Given the description of an element on the screen output the (x, y) to click on. 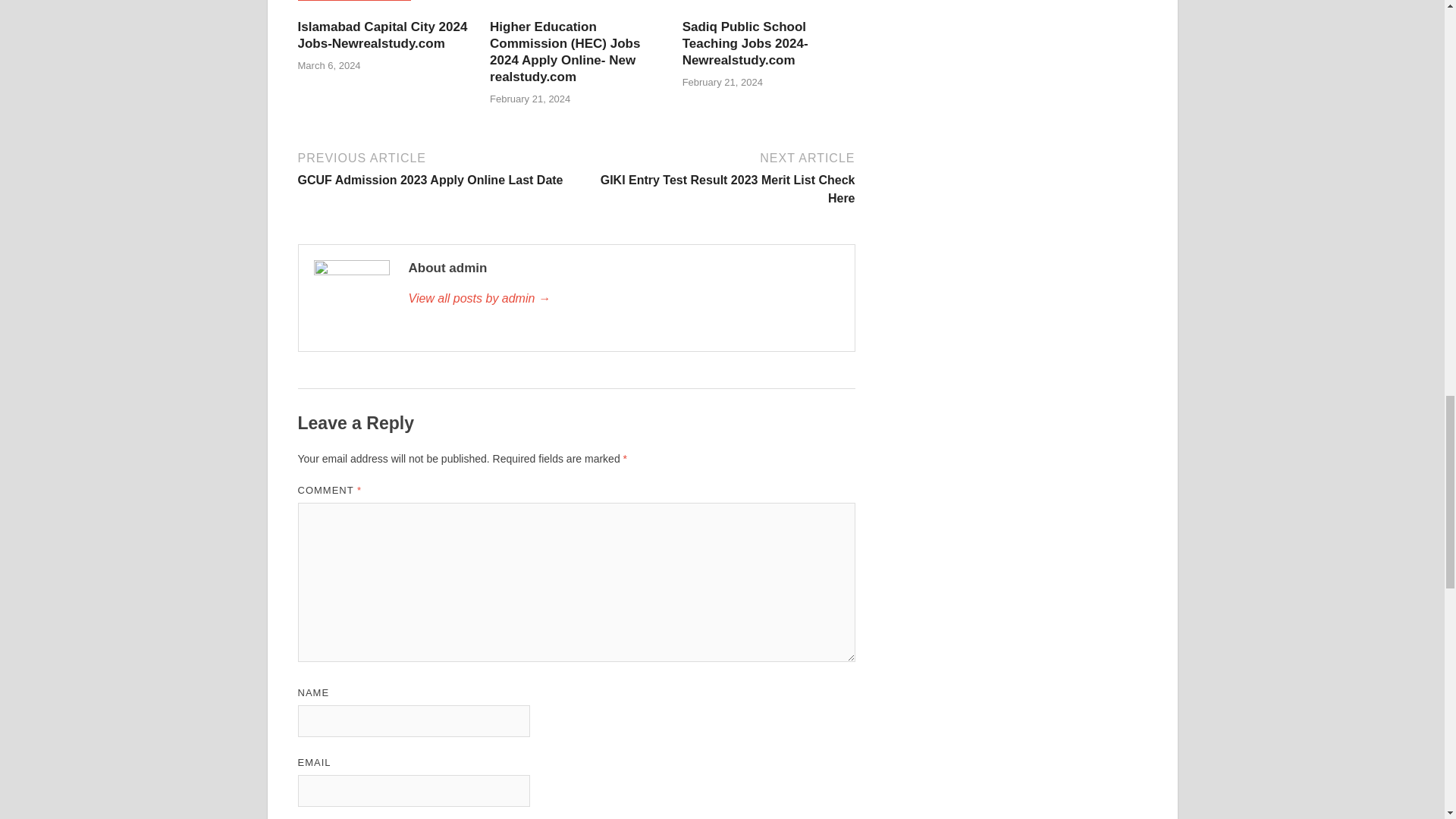
Islamabad Capital City 2024 Jobs-Newrealstudy.com (382, 34)
admin (434, 167)
Sadiq Public School Teaching Jobs 2024-Newrealstudy.com (622, 298)
Sadiq Public School Teaching Jobs 2024-Newrealstudy.com (745, 43)
Islamabad Capital City 2024 Jobs-Newrealstudy.com (745, 43)
